Given the description of an element on the screen output the (x, y) to click on. 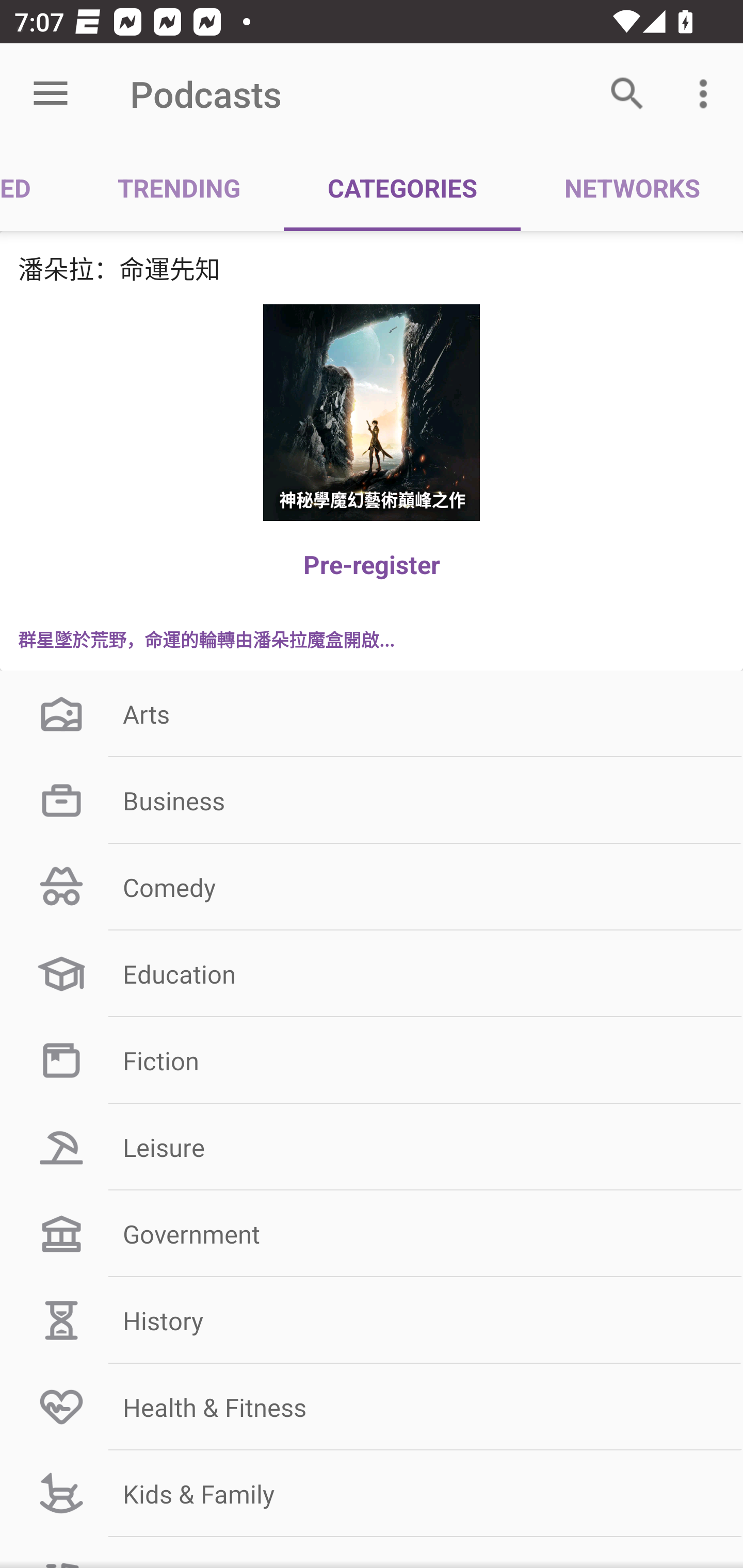
Open menu (50, 93)
Search (626, 93)
More options (706, 93)
TRENDING (178, 187)
CATEGORIES (401, 187)
NETWORKS (631, 187)
潘朵拉：命運先知 (371, 267)
Pre-register (371, 564)
群星墜於荒野，命運的輪轉由潘朵拉魔盒開啟... (371, 638)
Arts (371, 714)
Business (371, 800)
Comedy (371, 886)
Education (371, 973)
Fiction (371, 1060)
Leisure (371, 1146)
Government (371, 1233)
History (371, 1320)
Health & Fitness (371, 1407)
Kids & Family (371, 1493)
